Given the description of an element on the screen output the (x, y) to click on. 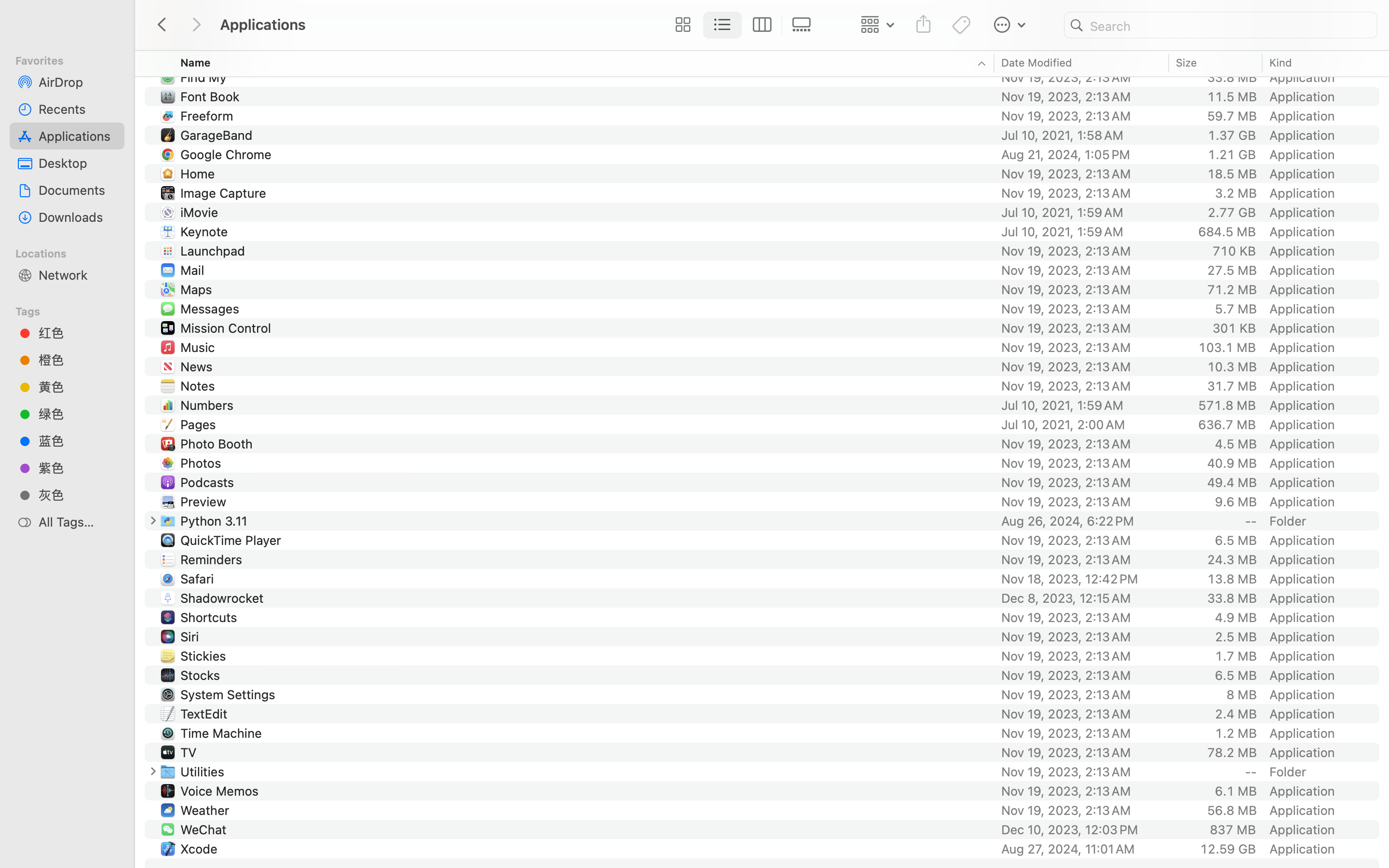
iMovie Element type: AXTextField (201, 211)
Voice Memos Element type: AXTextField (221, 790)
Music Element type: AXTextField (199, 346)
Messages Element type: AXTextField (211, 308)
Mail Element type: AXTextField (194, 269)
